Given the description of an element on the screen output the (x, y) to click on. 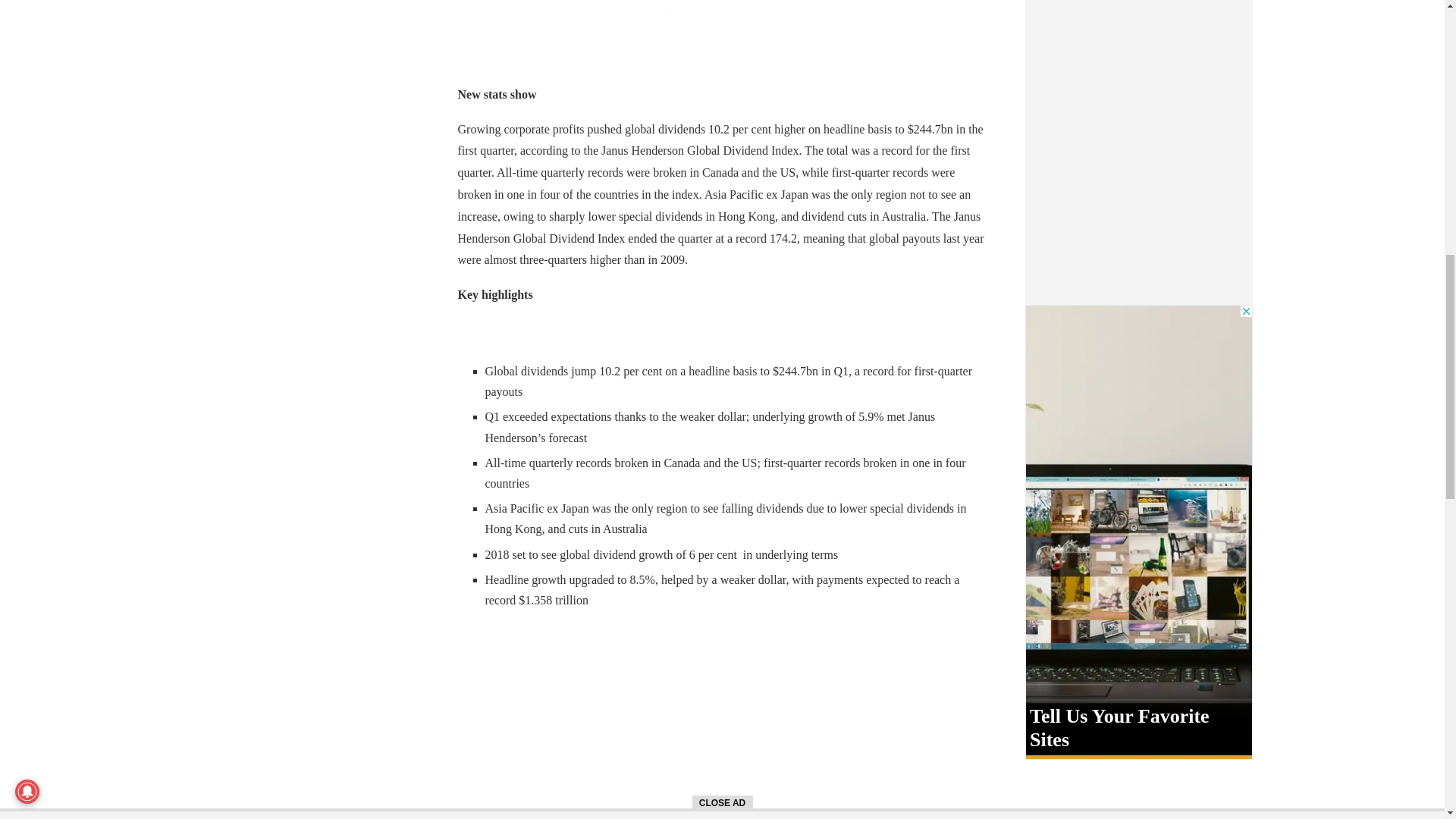
3rd party ad content (589, 33)
